Given the description of an element on the screen output the (x, y) to click on. 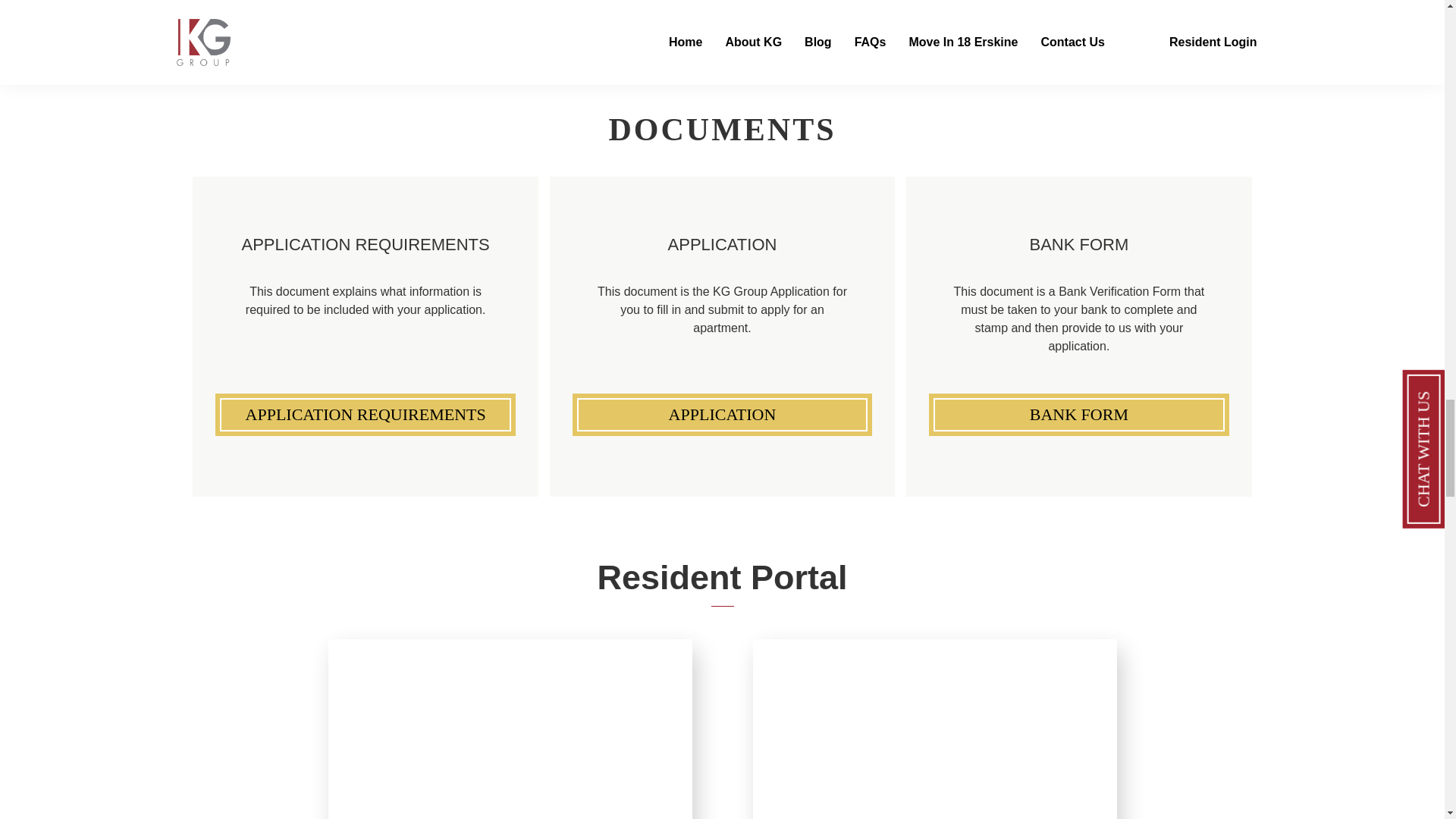
LOAD MORE (722, 5)
